Given the description of an element on the screen output the (x, y) to click on. 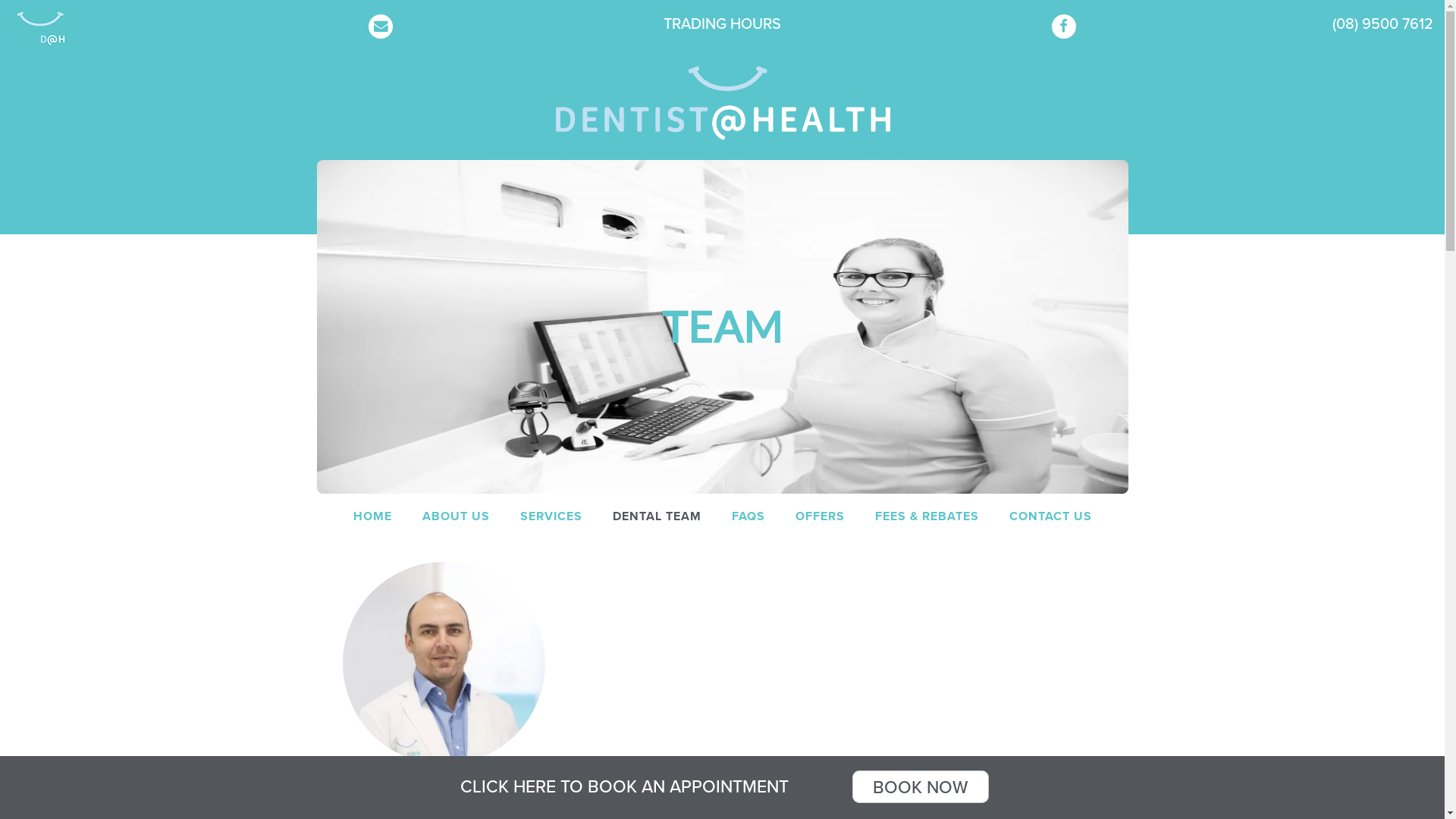
CONTACT US Element type: text (1049, 516)
SERVICES Element type: text (551, 516)
TRADING HOURS Element type: text (722, 24)
FAQS Element type: text (747, 516)
HOME Element type: text (372, 516)
BOOK NOW Element type: text (920, 786)
FEES & REBATES Element type: text (926, 516)
ABOUT US Element type: text (455, 516)
OFFERS Element type: text (819, 516)
DENTAL TEAM Element type: text (656, 516)
Dentist@Health: Dentist Baldivis Element type: hover (721, 102)
